Given the description of an element on the screen output the (x, y) to click on. 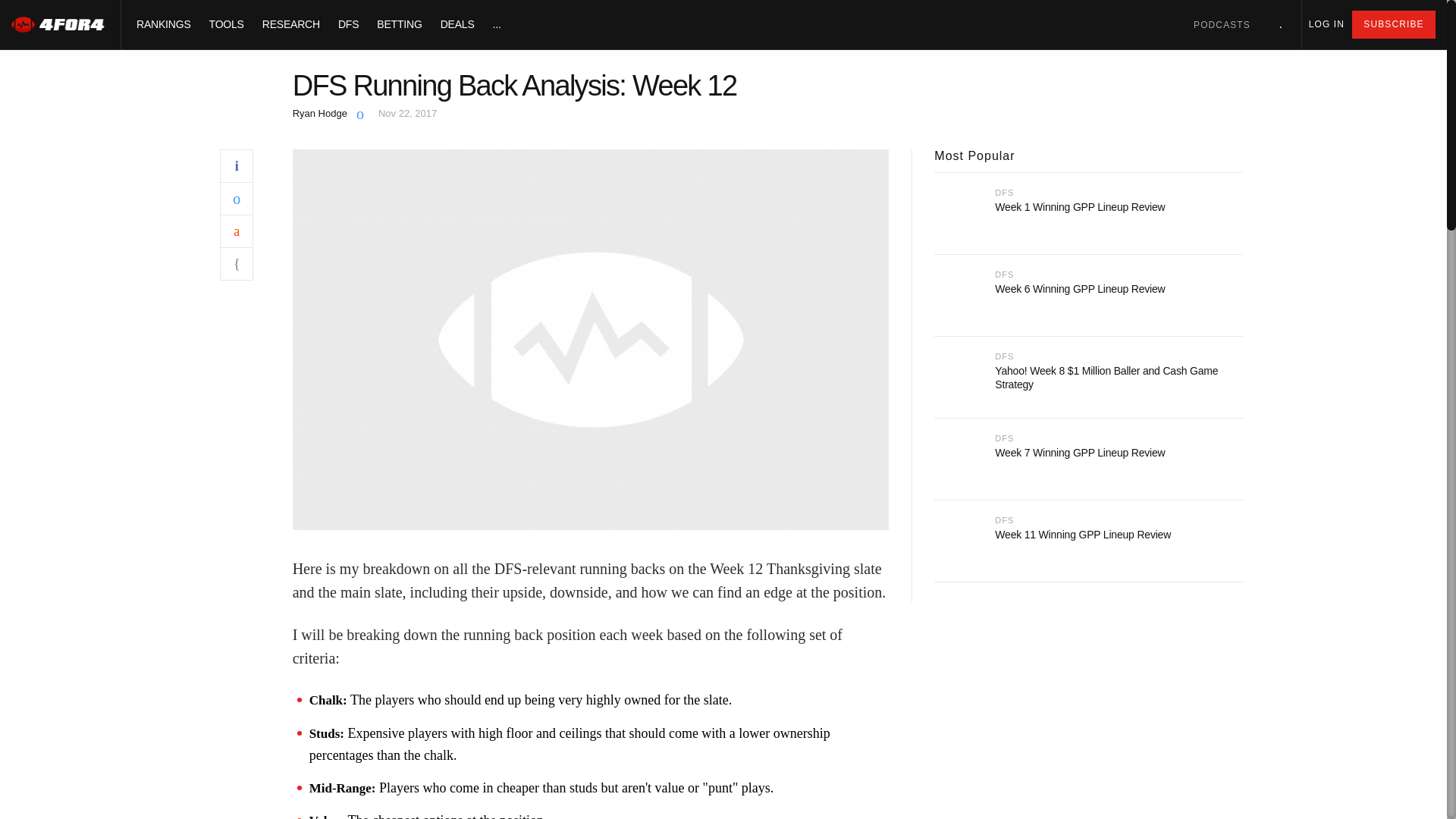
Share this on Twitter (236, 197)
Log in (1325, 24)
RANKINGS (163, 23)
Share this post via email (236, 263)
Submit this post on reddit.com (236, 230)
Share on Facebook (236, 165)
